Given the description of an element on the screen output the (x, y) to click on. 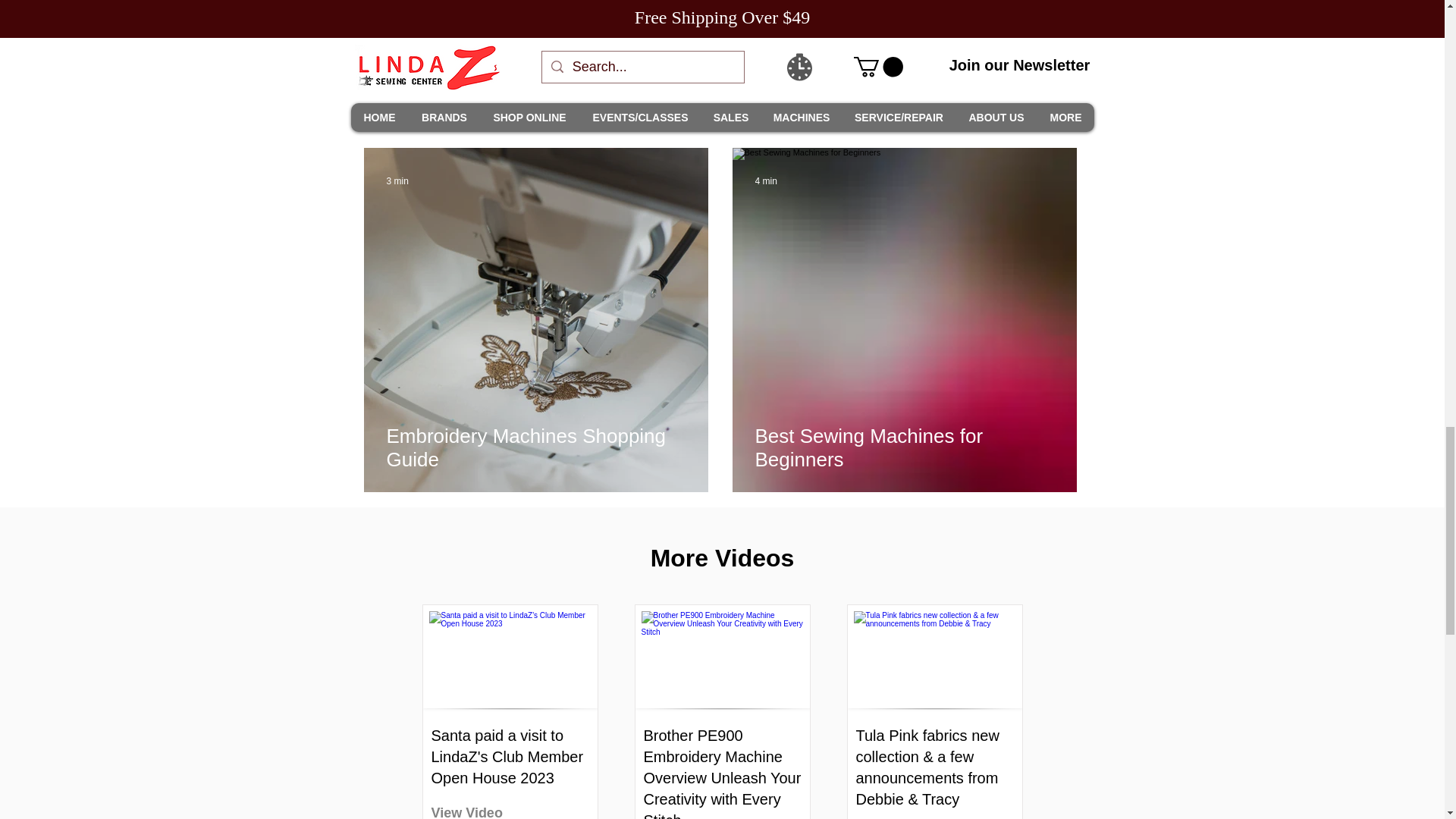
4 min (766, 181)
3 min (398, 181)
